Given the description of an element on the screen output the (x, y) to click on. 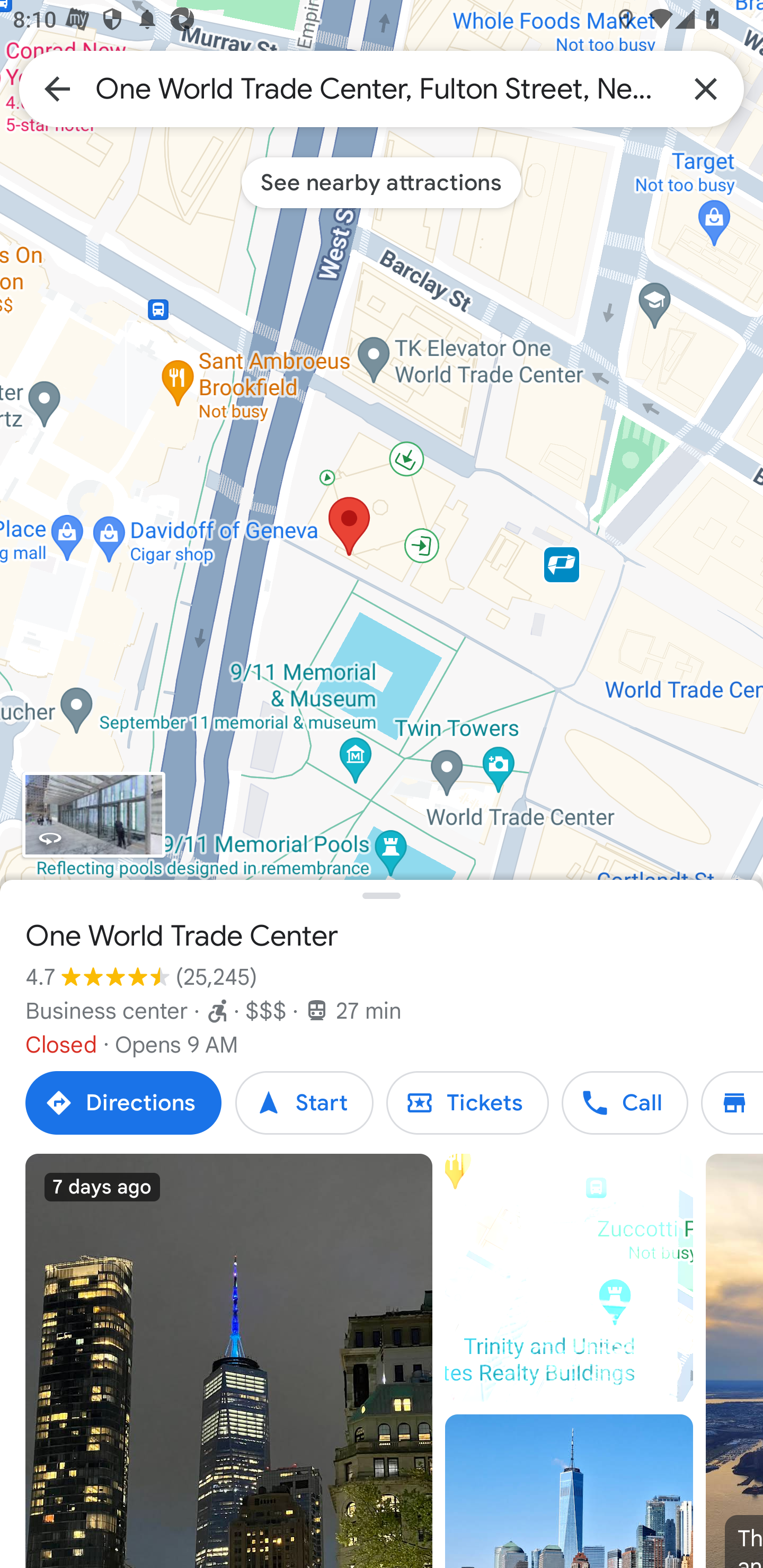
Back (57, 88)
Clear (705, 88)
See nearby attractions (381, 182)
Start Start Start (304, 1102)
Tickets (467, 1102)
Directory Directory Directory (732, 1102)
Photo uploaded 7 days ago (228, 1361)
Video (568, 1277)
Photo (568, 1491)
